Given the description of an element on the screen output the (x, y) to click on. 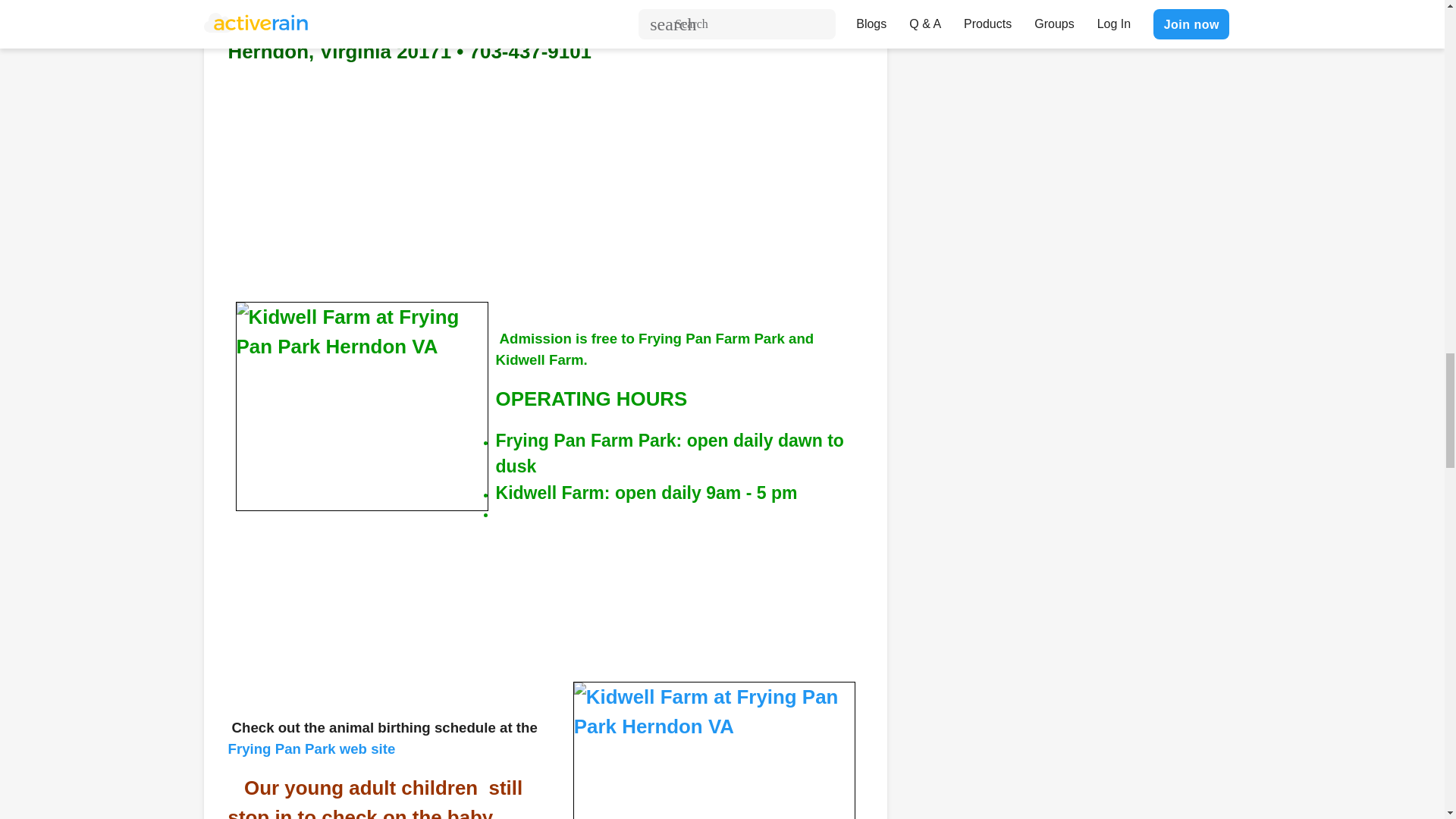
Frying Pan Park web site (310, 748)
Kidwell Farm at Frying Pan Park Herndon VA (704, 12)
Kidwell Farm at Frying Pan Park Herndon VA (714, 750)
Kidwell Farm at Frying Pan Park Herndon VA (360, 406)
